Given the description of an element on the screen output the (x, y) to click on. 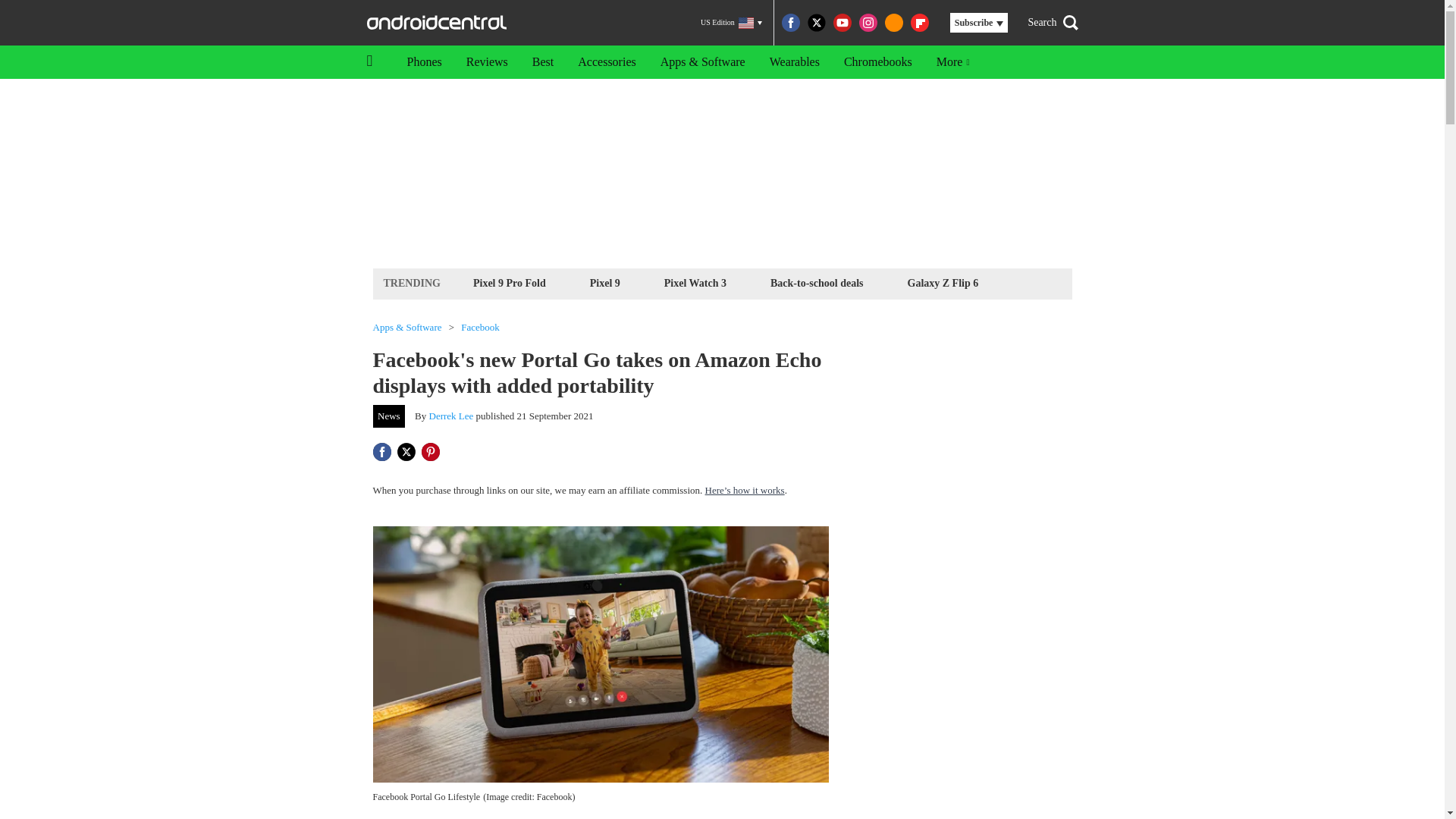
US Edition (731, 22)
Pixel 9 Pro Fold (509, 282)
News (389, 415)
Back-to-school deals (817, 282)
Pixel 9 (605, 282)
Galaxy Z Flip 6 (943, 282)
Derrek Lee (451, 415)
Chromebooks (877, 61)
Phones (423, 61)
Best (542, 61)
